Given the description of an element on the screen output the (x, y) to click on. 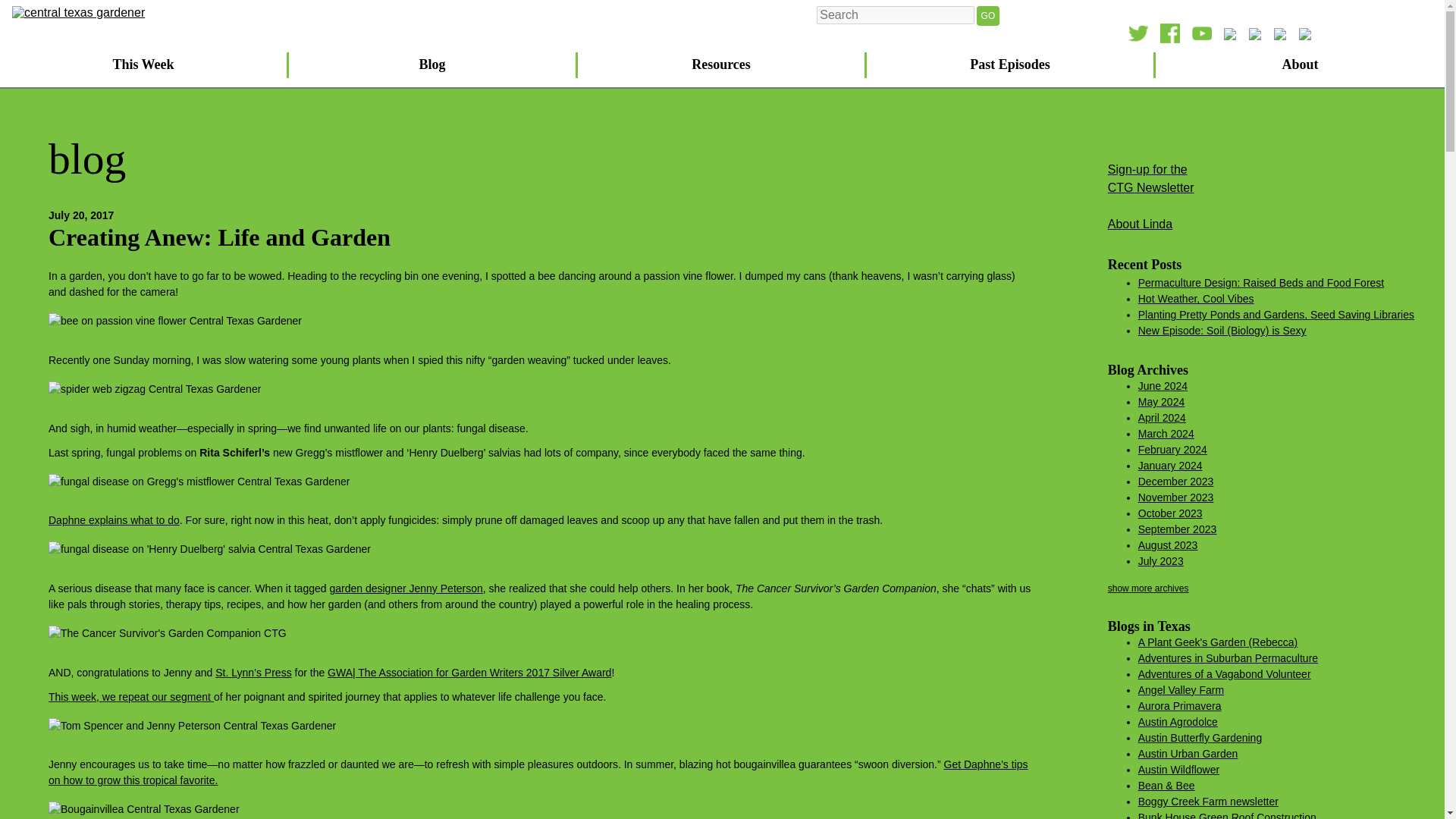
Blog (1150, 178)
About Linda (433, 64)
Permaculture Design: Raised Beds and Food Forest (1140, 223)
Daphne explains what to do (1261, 282)
Past Episodes (113, 520)
Hot Weather, Cool Vibes (1011, 64)
garden designer Jenny Peterson (1195, 298)
Resources (405, 588)
GO (722, 64)
This week, we repeat our segment (988, 15)
This Week (131, 696)
